Given the description of an element on the screen output the (x, y) to click on. 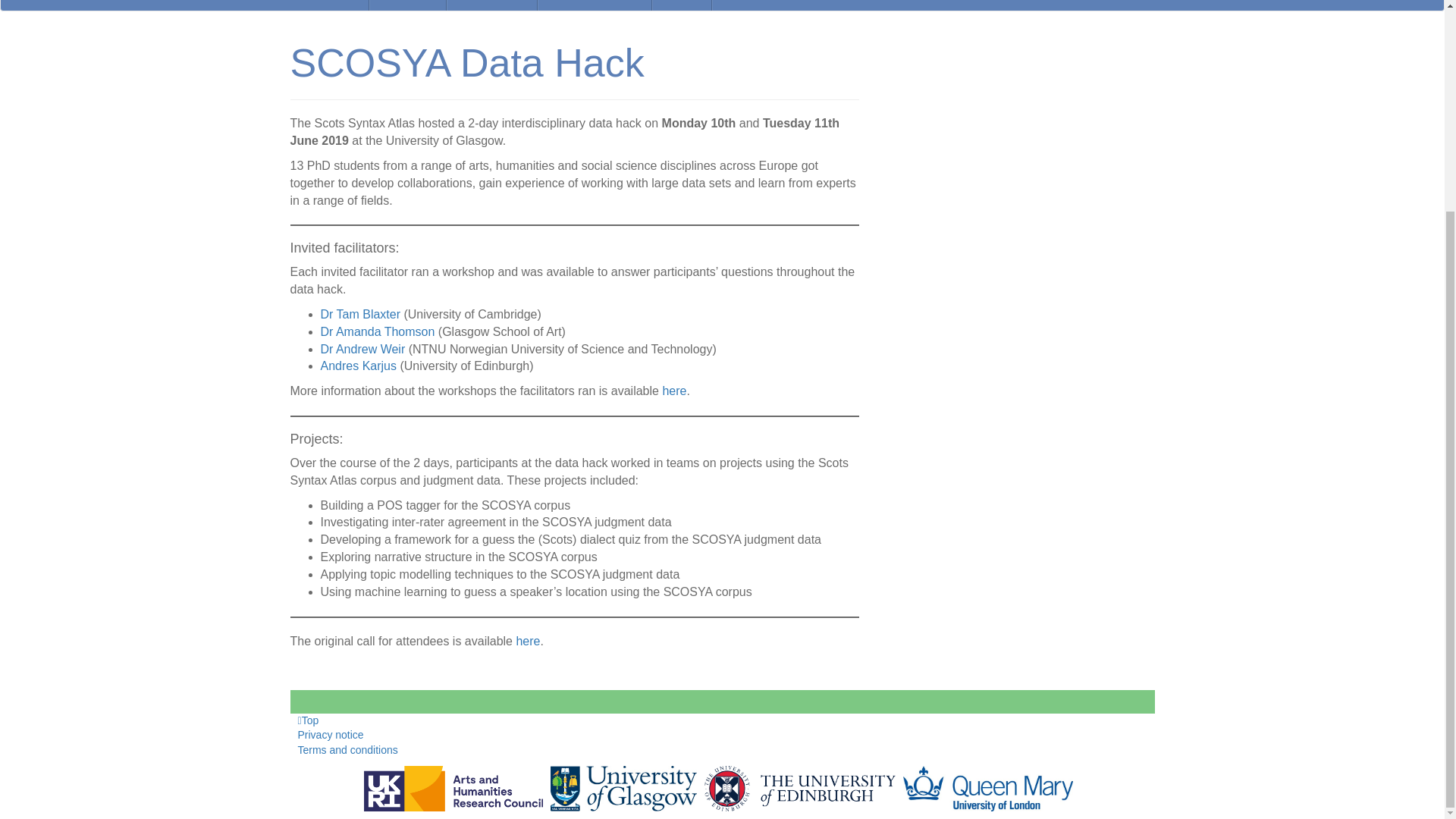
Dr Amanda Thomson (376, 331)
here (673, 390)
About the project (594, 5)
Privacy notice (329, 734)
Contact (681, 5)
Dr Andrew Weir (362, 349)
Top (307, 719)
Andres Karjus (358, 365)
Terms and conditions (347, 749)
For linguists (491, 5)
